Given the description of an element on the screen output the (x, y) to click on. 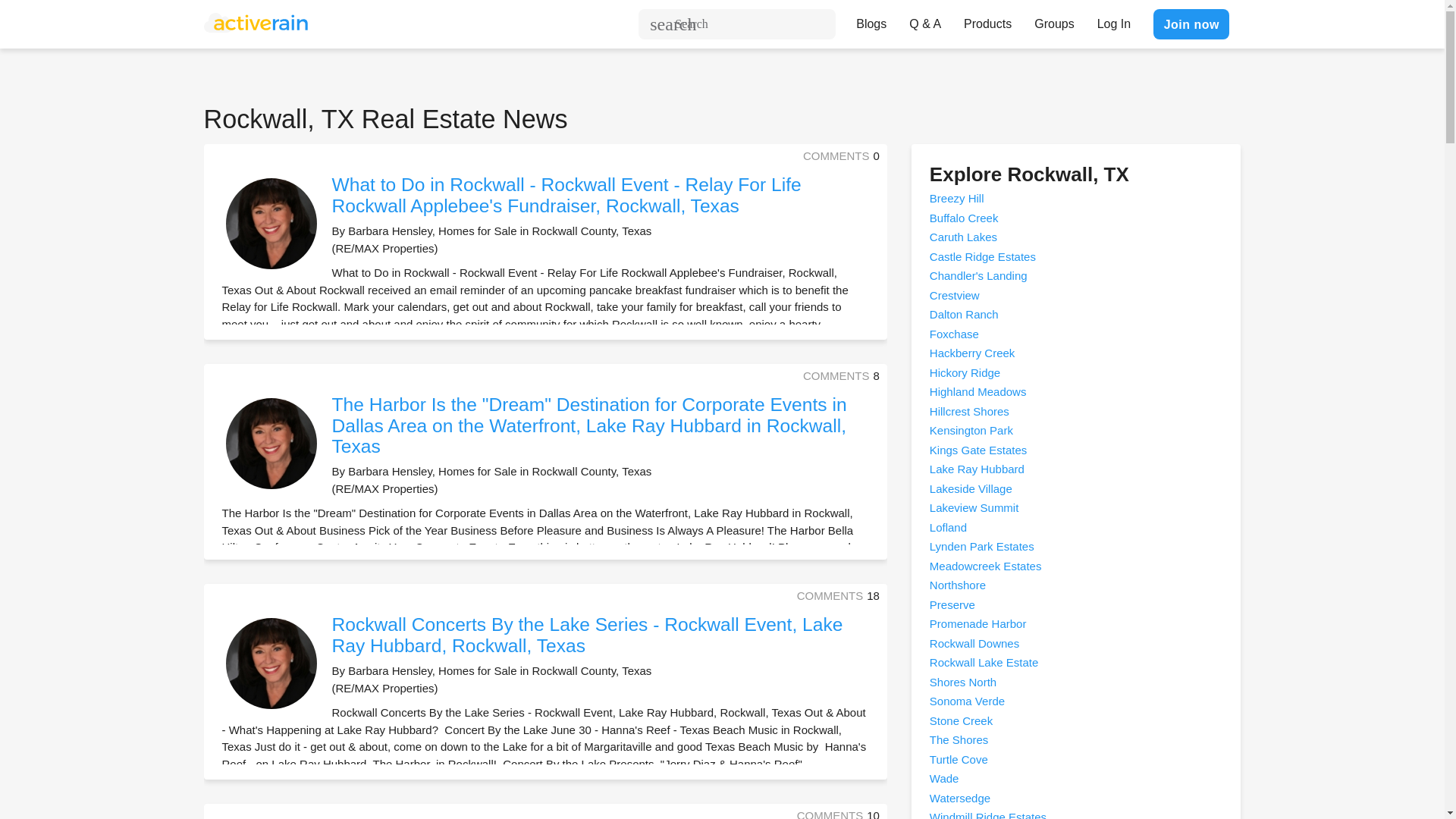
Log In (1113, 19)
Join now (1190, 24)
Products (986, 19)
Blogs (870, 19)
Groups (1053, 19)
